Given the description of an element on the screen output the (x, y) to click on. 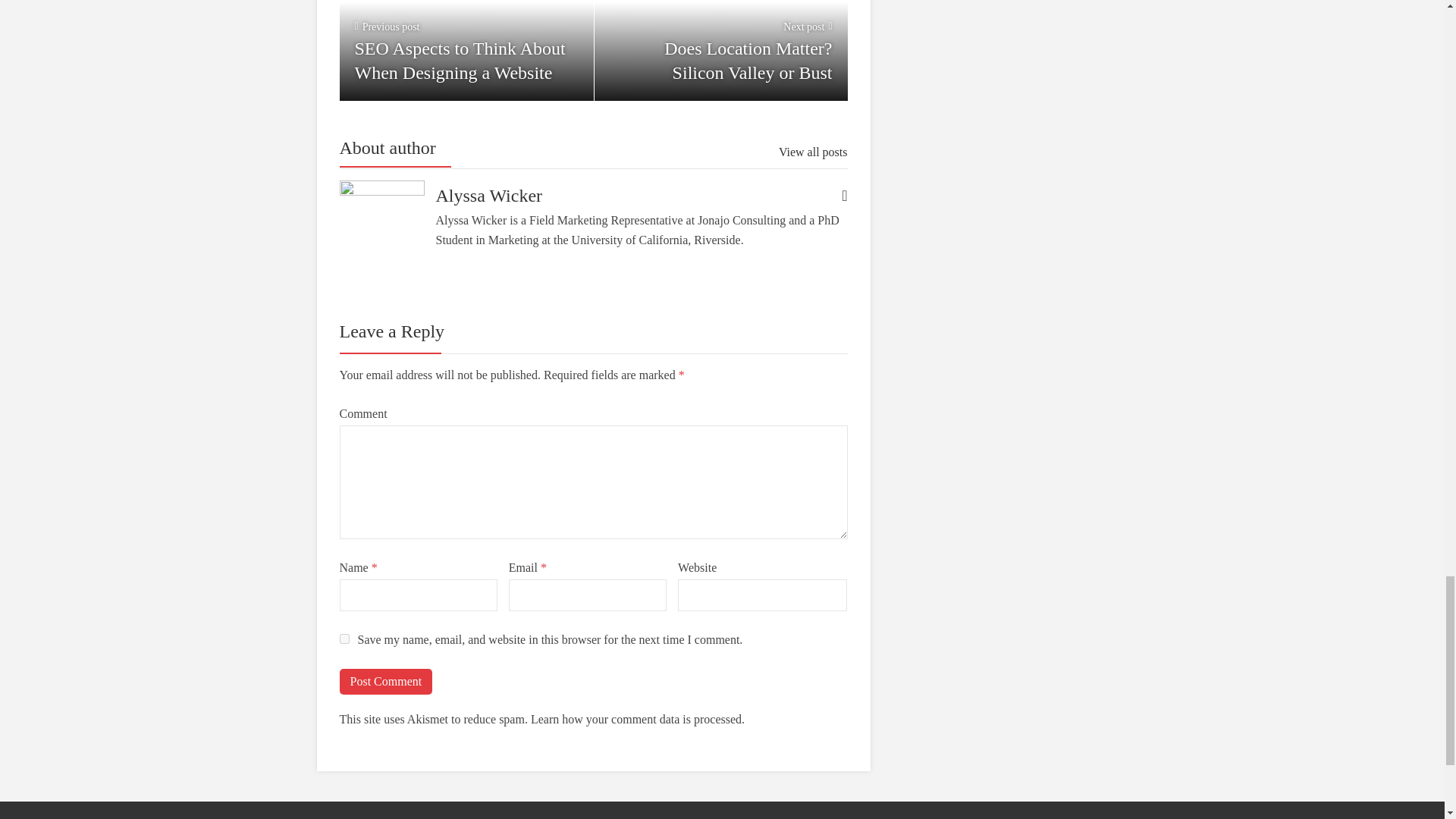
Learn how your comment data is processed (636, 718)
Post Comment (720, 50)
Post Comment (385, 681)
yes (385, 681)
View all posts (344, 638)
